Given the description of an element on the screen output the (x, y) to click on. 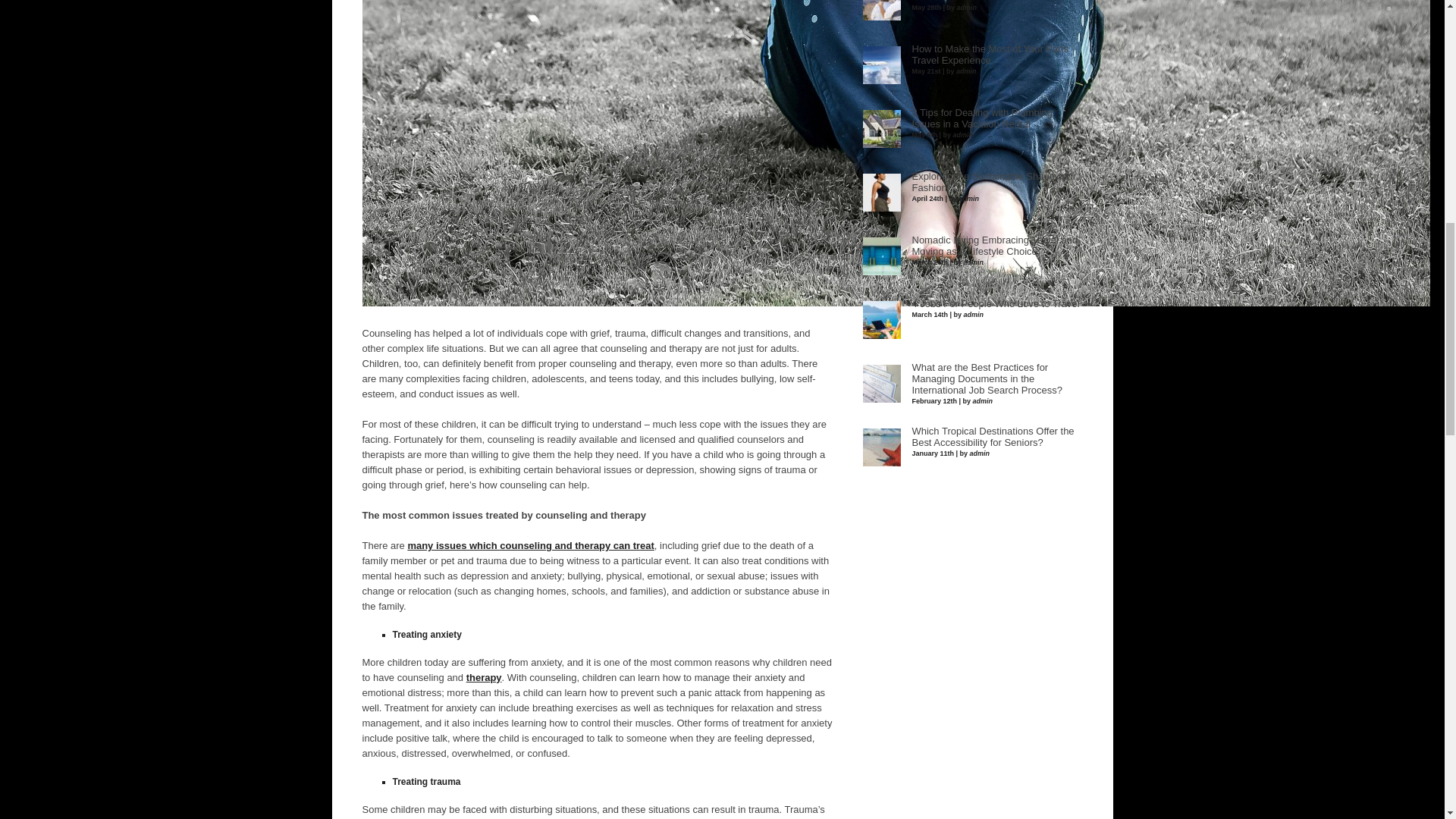
How Can Seniors Fully Enjoy National Park Visits? (994, 1)
3 Tips for Dealing with Plumbing Issues in a Vacation Rental (981, 118)
How Can Seniors Fully Enjoy National Park Visits? (994, 1)
Exploring the Sustainable Shapewear Fashion (993, 182)
Exploring the Sustainable Shapewear Fashion (993, 182)
How to Make the Most of Your Paris Travel Experience (989, 55)
3 Tips for Dealing with Plumbing Issues in a Vacation Rental (981, 118)
many issues which counseling and therapy can treat (530, 545)
How to Make the Most of Your Paris Travel Experience (989, 55)
therapy (483, 677)
